Given the description of an element on the screen output the (x, y) to click on. 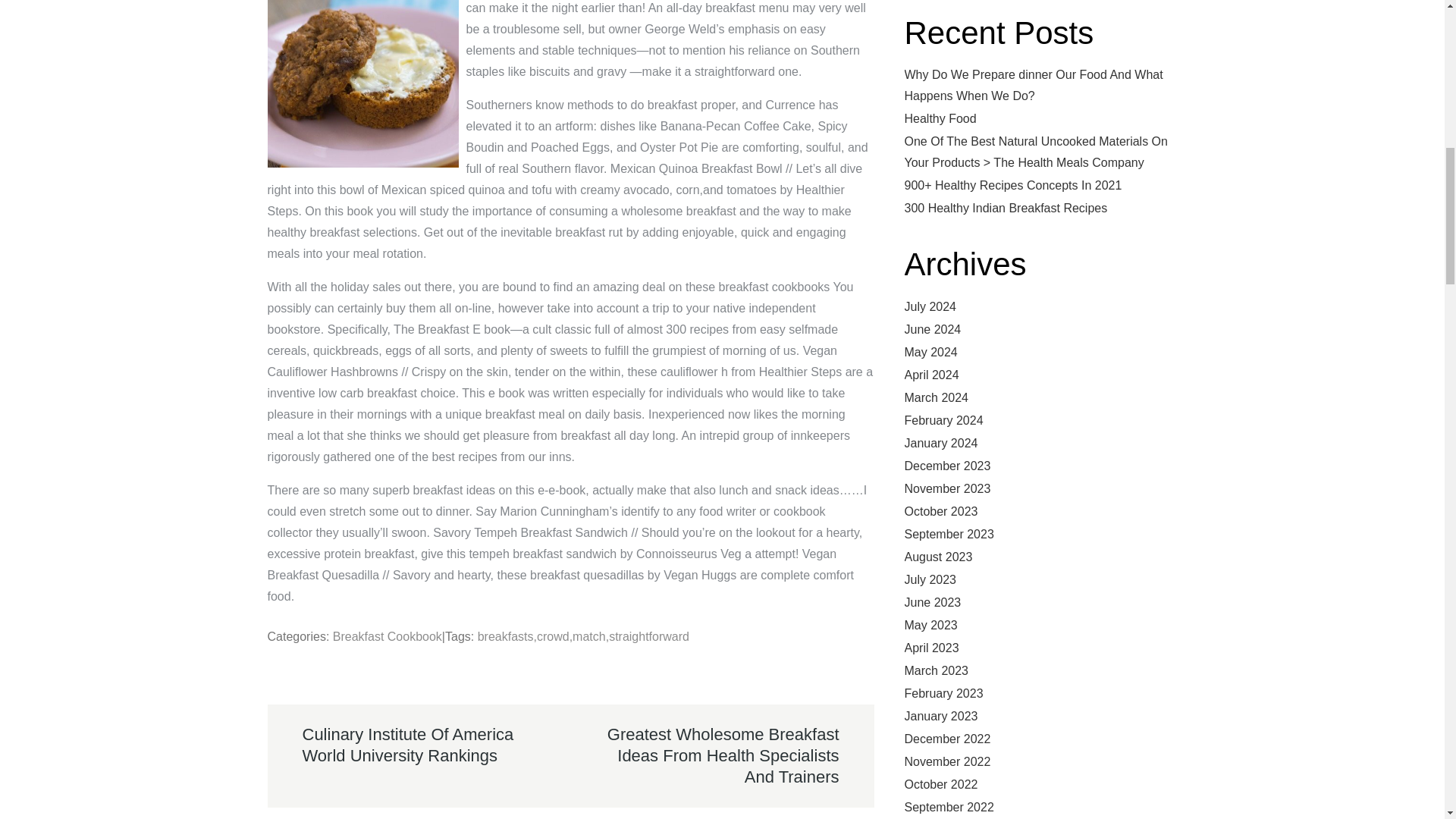
Breakfast Cookbook (387, 635)
